Given the description of an element on the screen output the (x, y) to click on. 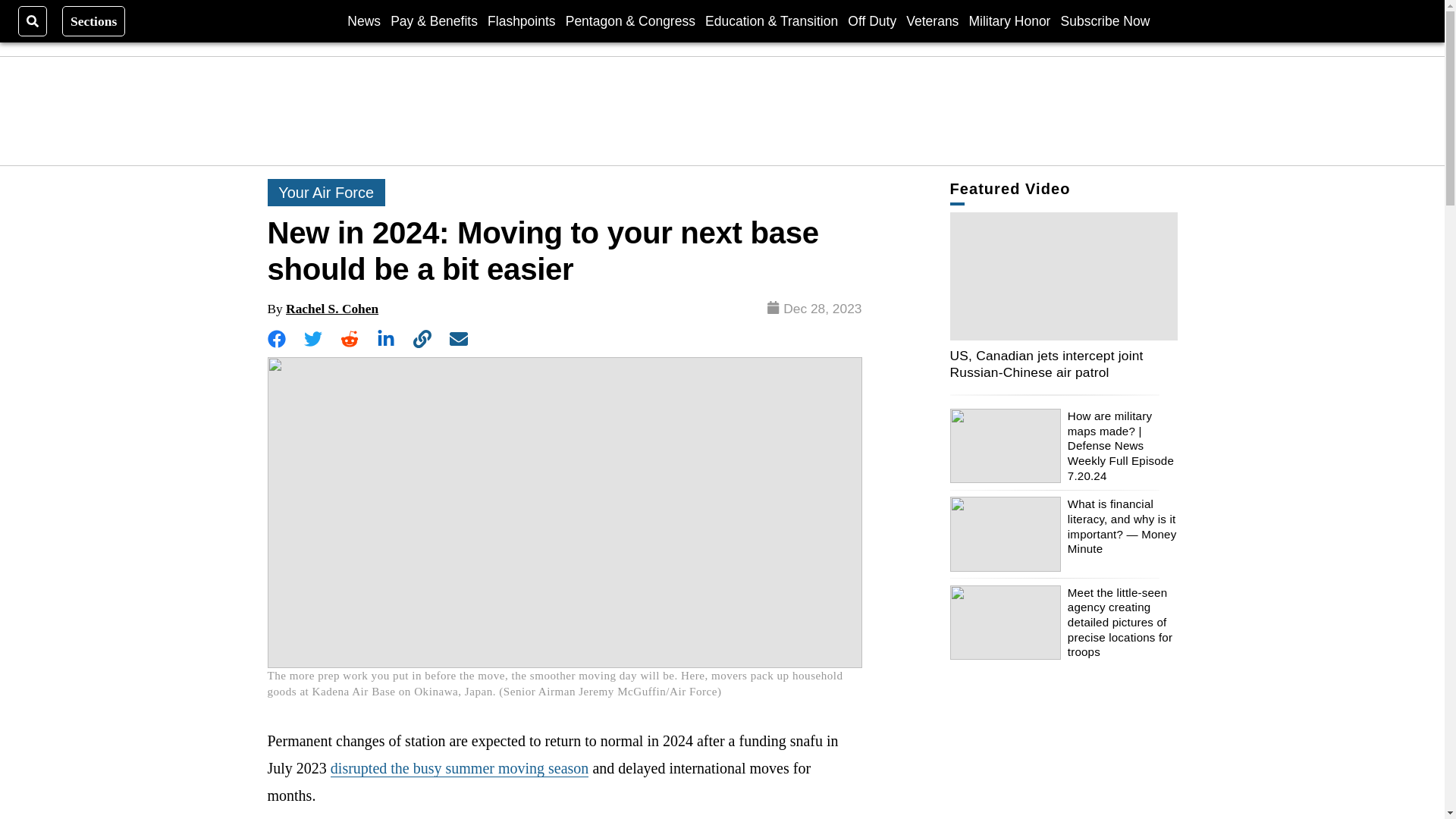
Veterans (931, 20)
Sections (93, 20)
Off Duty (871, 20)
News (363, 20)
Flashpoints (521, 20)
Military Honor (1010, 20)
